Given the description of an element on the screen output the (x, y) to click on. 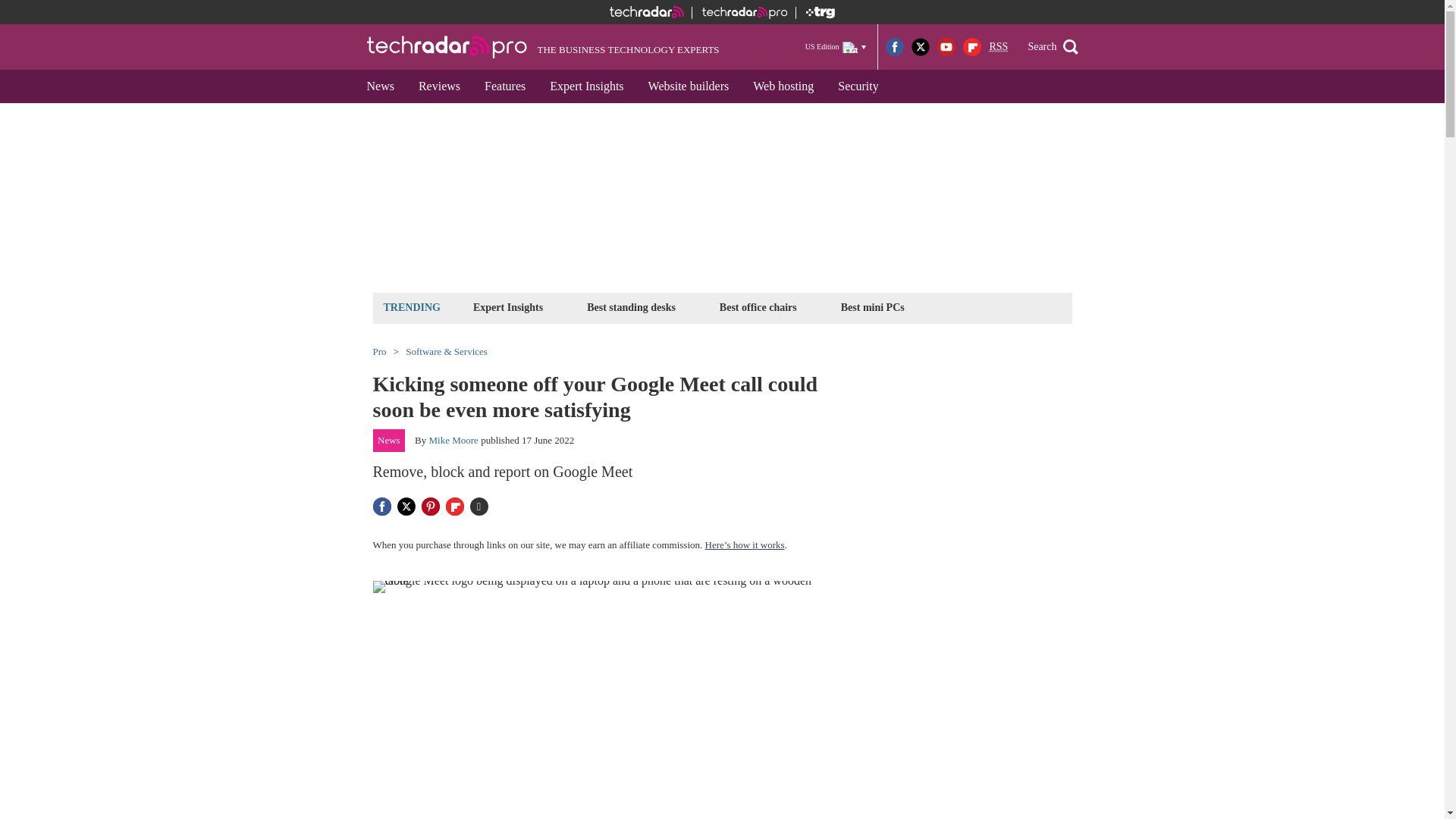
Reviews (438, 86)
Security (857, 86)
THE BUSINESS TECHNOLOGY EXPERTS (542, 46)
News (380, 86)
Best standing desks (630, 307)
US Edition (836, 46)
Web hosting (783, 86)
RSS (997, 46)
Features (504, 86)
Really Simple Syndication (997, 46)
Best office chairs (758, 307)
Expert Insights (585, 86)
Expert Insights (507, 307)
Website builders (688, 86)
